Given the description of an element on the screen output the (x, y) to click on. 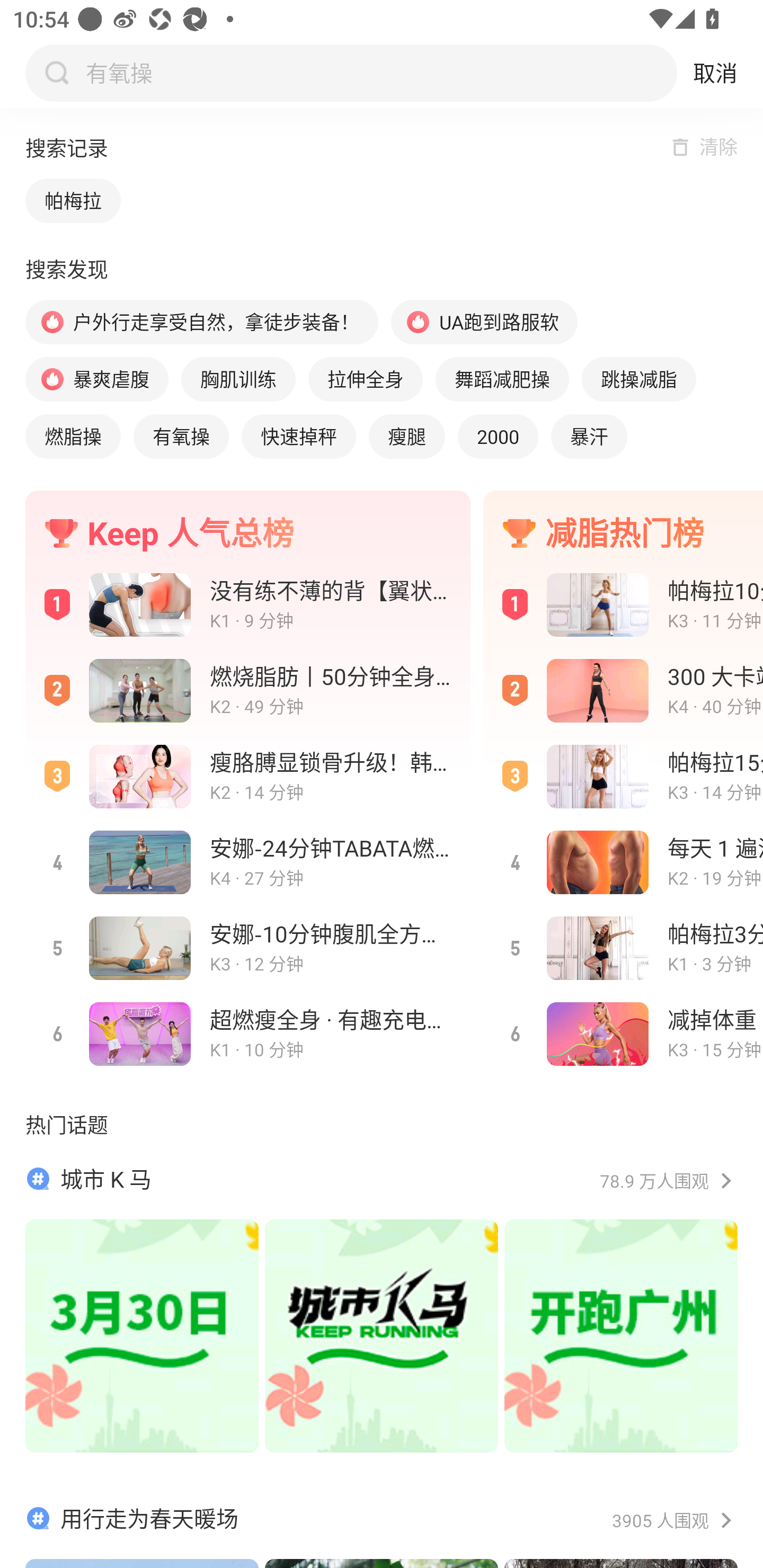
有氧操 EditSearch (377, 72)
取消 (714, 72)
清除 (718, 146)
帕梅拉 (72, 200)
户外行走享受自然，拿徒步装备！ (201, 321)
UA跑到路服软 (483, 321)
暴爽虐腹 (96, 379)
胸肌训练 (238, 379)
拉伸全身 (365, 379)
舞蹈减肥操 (502, 379)
跳操减脂 (638, 379)
燃脂操 (72, 436)
有氧操 (180, 436)
快速掉秤 (298, 436)
瘦腿 (406, 436)
2000 (497, 436)
暴汗 (588, 436)
热门课榜 热门课榜 没有练不薄的背【翼状肩矫正】·偶不偶买噶 K1 · 9 分钟 (247, 604)
热门课榜 热门课榜 帕梅拉10分钟挥汗舞蹈 让身体充满内啡肽 K3 · 11 分钟 (622, 604)
热门课榜 热门课榜 燃烧脂肪丨50分钟全身有氧训练·奥博朗 K2 · 49 分钟 (247, 690)
热门课榜 热门课榜 瘦胳膊显锁骨升级！韩小四 14 分钟打造迷人肩臂 K2 · 14 分钟 (247, 776)
热门课榜 热门课榜 帕梅拉15分钟快乐舞蹈操·高效减脂 K3 · 14 分钟 (622, 776)
4 热门课榜 安娜-24分钟TABATA燃脂塑形 K4 · 27 分钟 (247, 862)
4 热门课榜 每天 1 遍消灭大肚腩 强效暴汗甩脂｜大体重专属 K2 · 19 分钟 (622, 862)
5 热门课榜 安娜-10分钟腹肌全方位训练 K3 · 12 分钟 (247, 947)
5 热门课榜 帕梅拉3分钟快乐舞蹈操 全身热身唤醒 K1 · 3 分钟 (622, 947)
6 热门课榜 超燃瘦全身 · 有趣充电操 · 燃脂派对入门 K1 · 10 分钟 (247, 1033)
热门话题 城市 K 马 78.9 万人围观 (381, 1300)
